Given the description of an element on the screen output the (x, y) to click on. 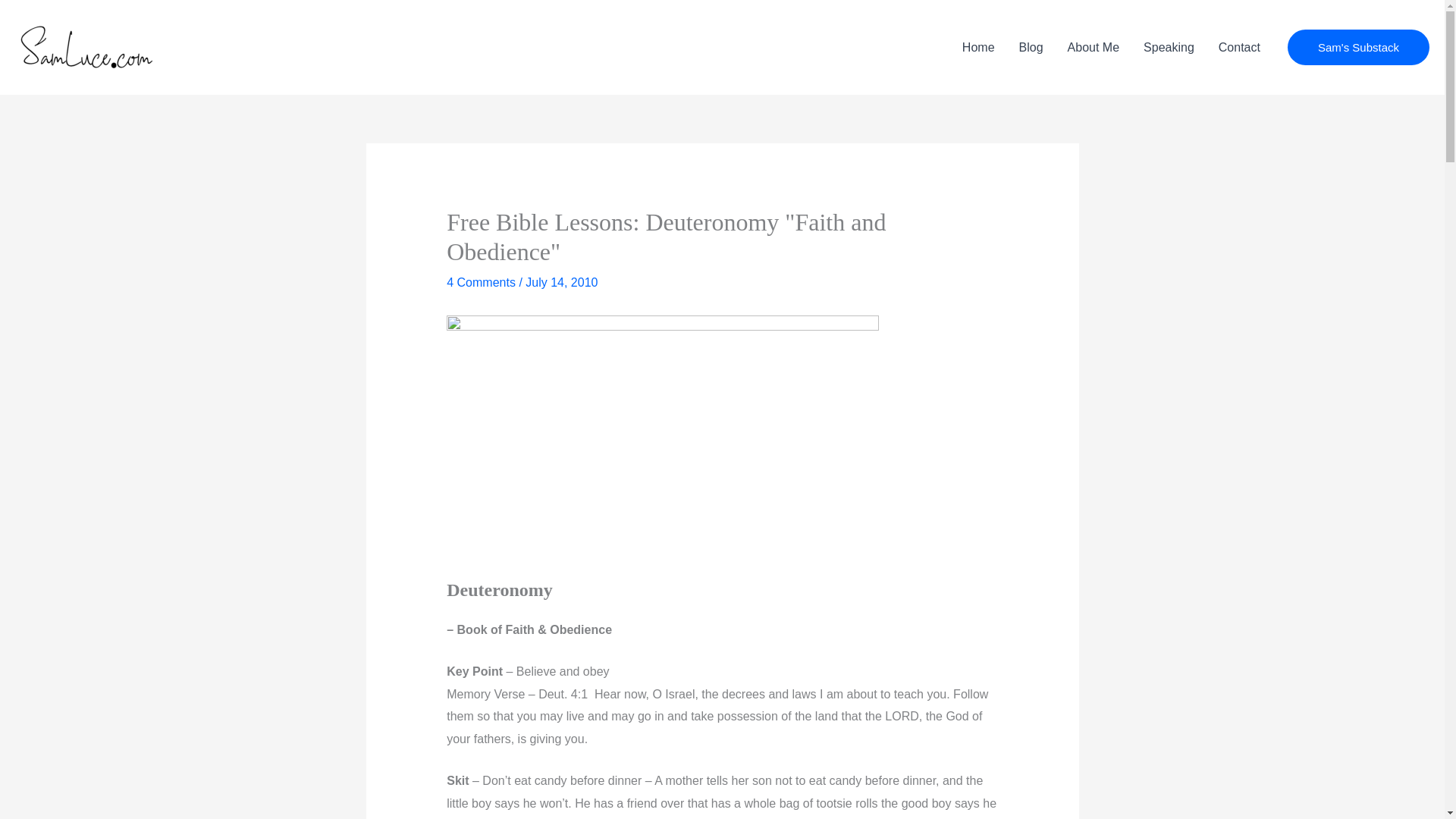
Speaking (1169, 47)
About Me (1093, 47)
Contact (1239, 47)
4 Comments (480, 282)
Sam's Substack (1358, 47)
Blog (1031, 47)
Home (978, 47)
